Given the description of an element on the screen output the (x, y) to click on. 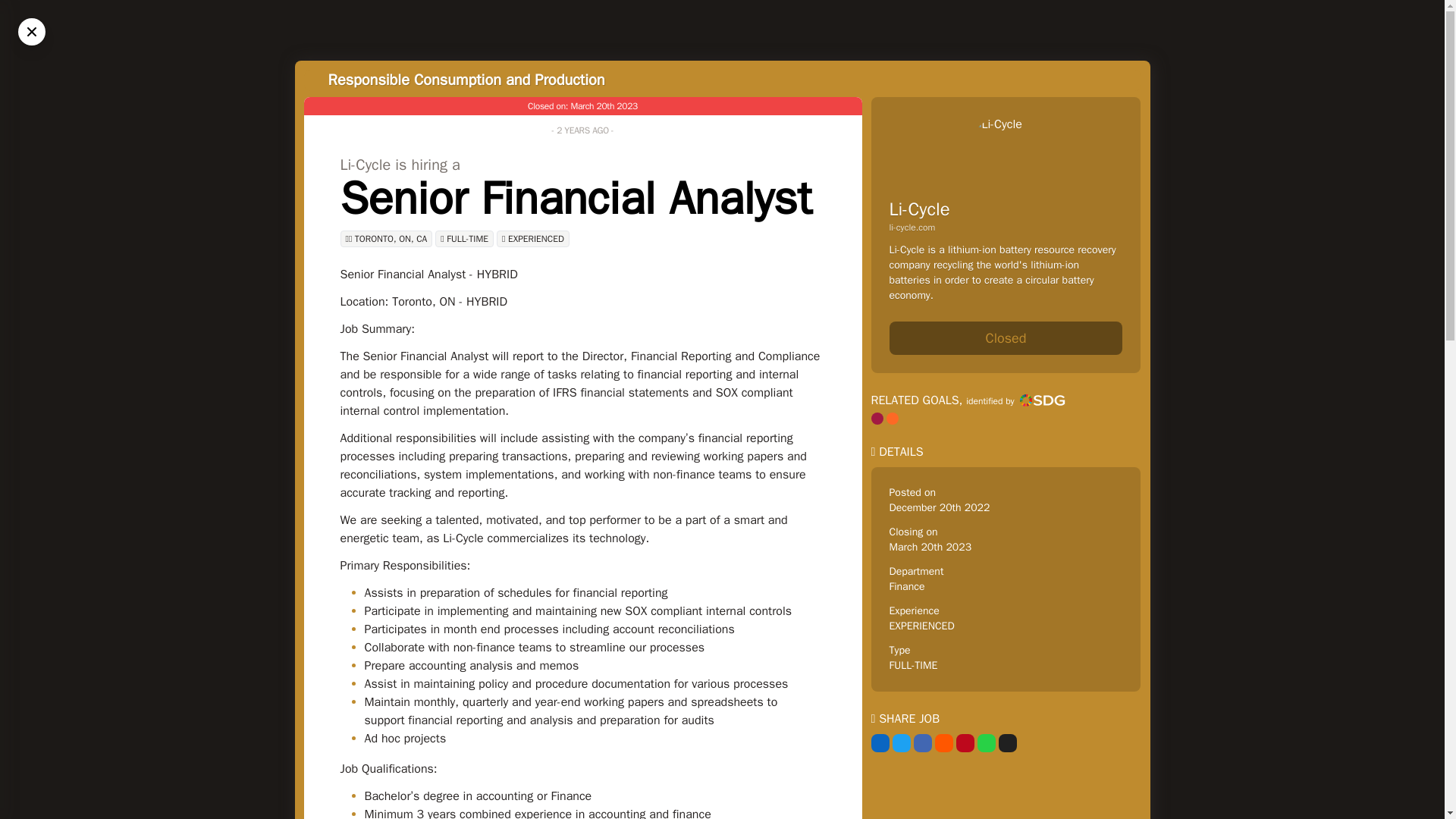
Decent Work and Economic Growth sustainability jobs (876, 418)
Finance (906, 585)
Responsible Consumption and Production (465, 79)
Closed (1005, 337)
share on linkedin (879, 742)
share on pinterest (964, 742)
Li-Cycle (918, 209)
share on twitter (900, 742)
li-cycle.com (1005, 227)
share on facebook (921, 742)
